Given the description of an element on the screen output the (x, y) to click on. 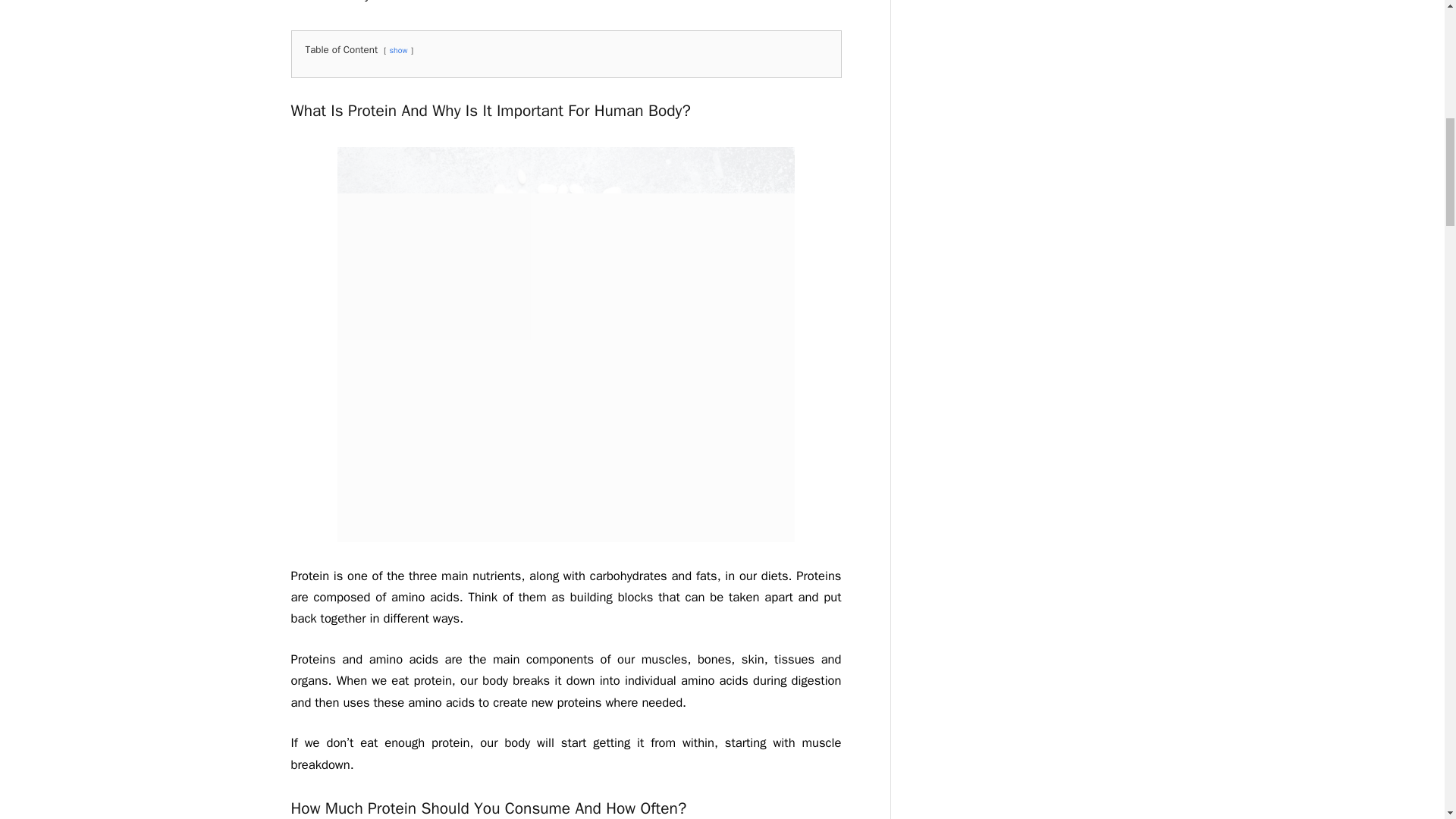
show (398, 50)
